Given the description of an element on the screen output the (x, y) to click on. 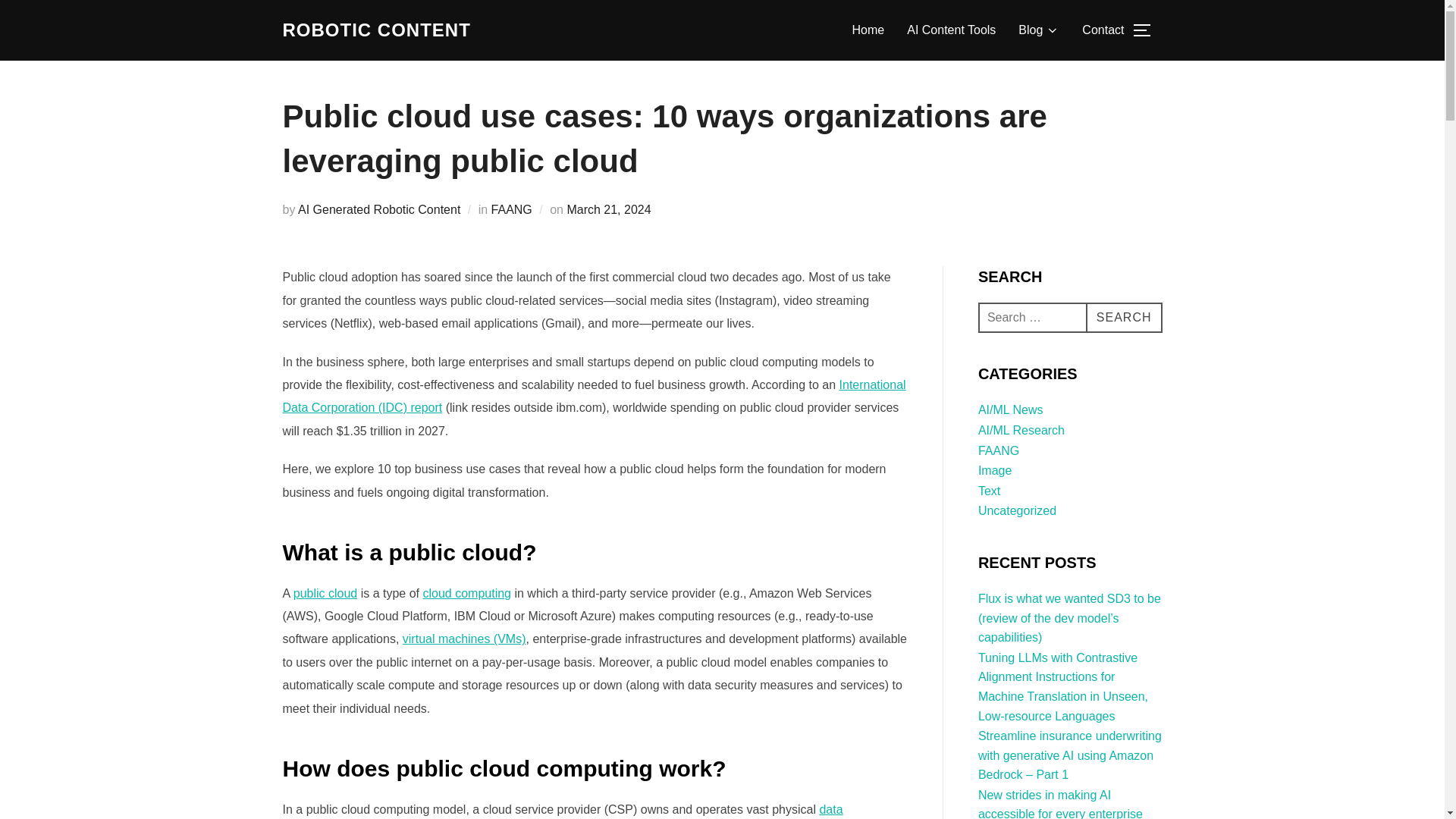
AI Content Tools (951, 30)
AI Generated Robotic Content (379, 209)
Home (868, 30)
Contact (1102, 30)
data centers (562, 811)
cloud computing (467, 593)
Blog (1038, 30)
March 21, 2024 (608, 209)
Generative Text, Images and Motion (376, 30)
public cloud (326, 593)
ROBOTIC CONTENT (376, 30)
FAANG (512, 209)
